Given the description of an element on the screen output the (x, y) to click on. 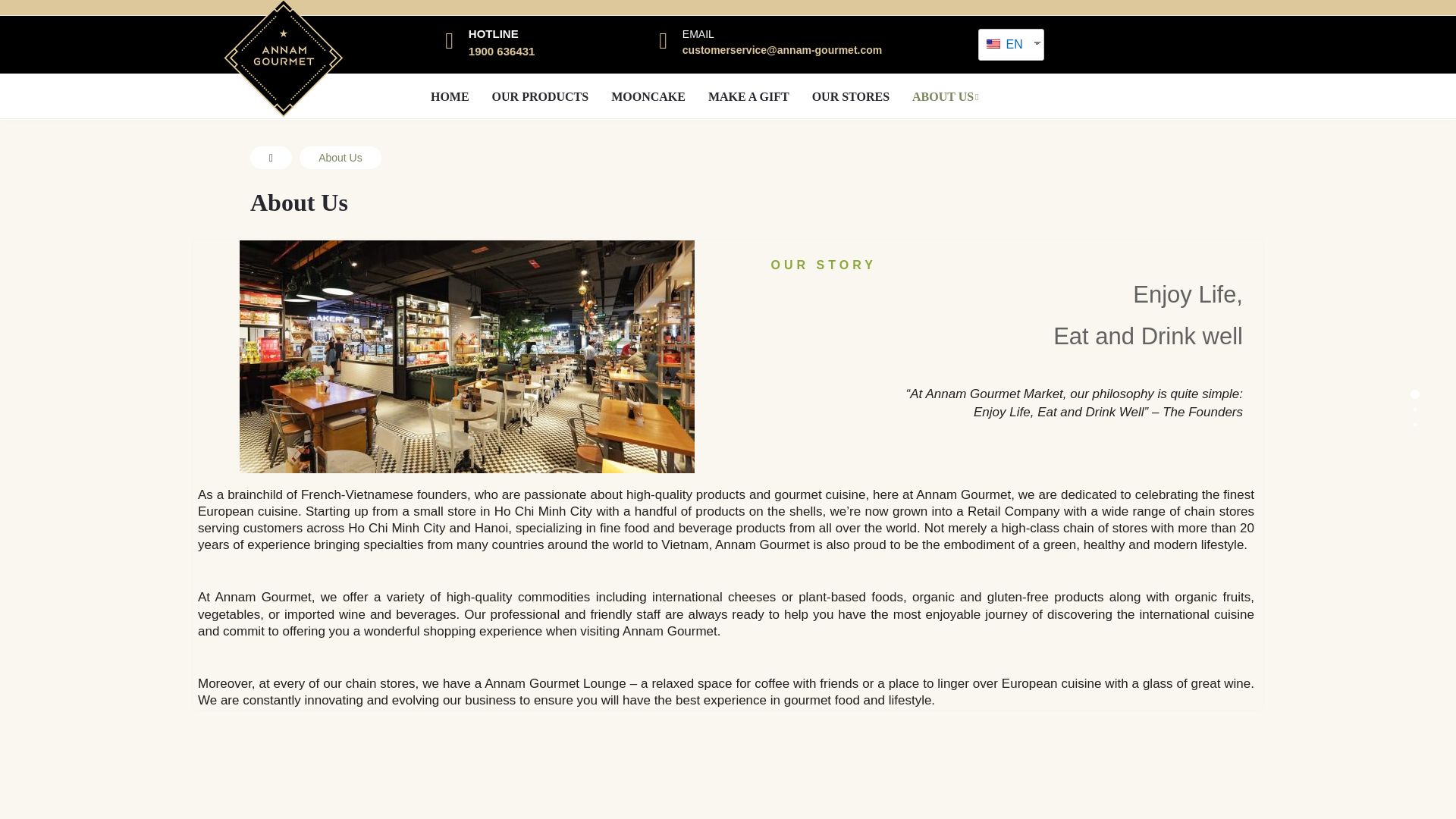
English (993, 43)
HOME (449, 96)
OUR STORES (850, 96)
EN (1004, 44)
MAKE A GIFT (748, 96)
ABOUT US (945, 96)
MOONCAKE (648, 96)
OUR PRODUCTS (539, 96)
English (1004, 44)
